Given the description of an element on the screen output the (x, y) to click on. 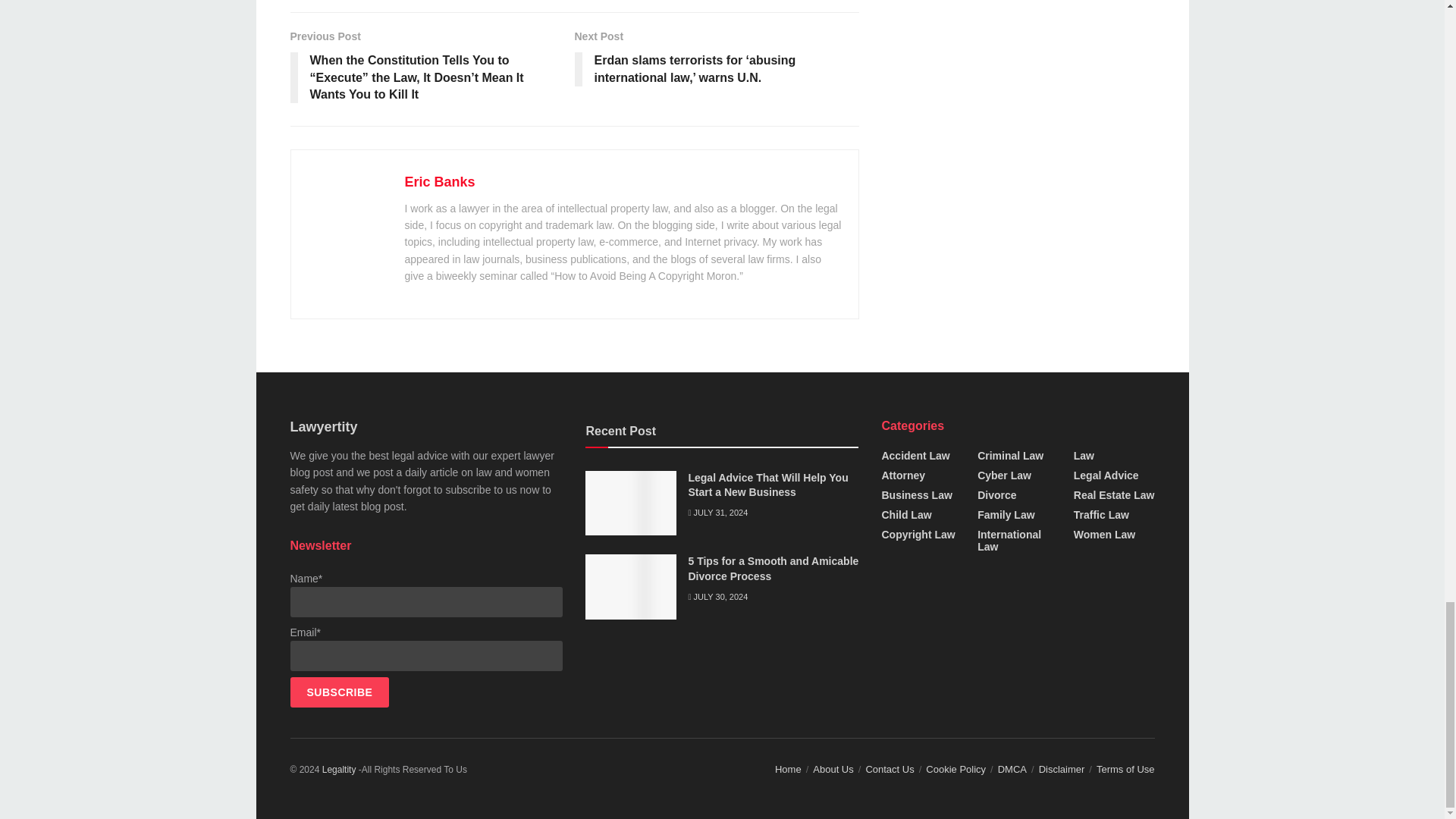
Subscribe (338, 692)
Legaltity (338, 769)
